Given the description of an element on the screen output the (x, y) to click on. 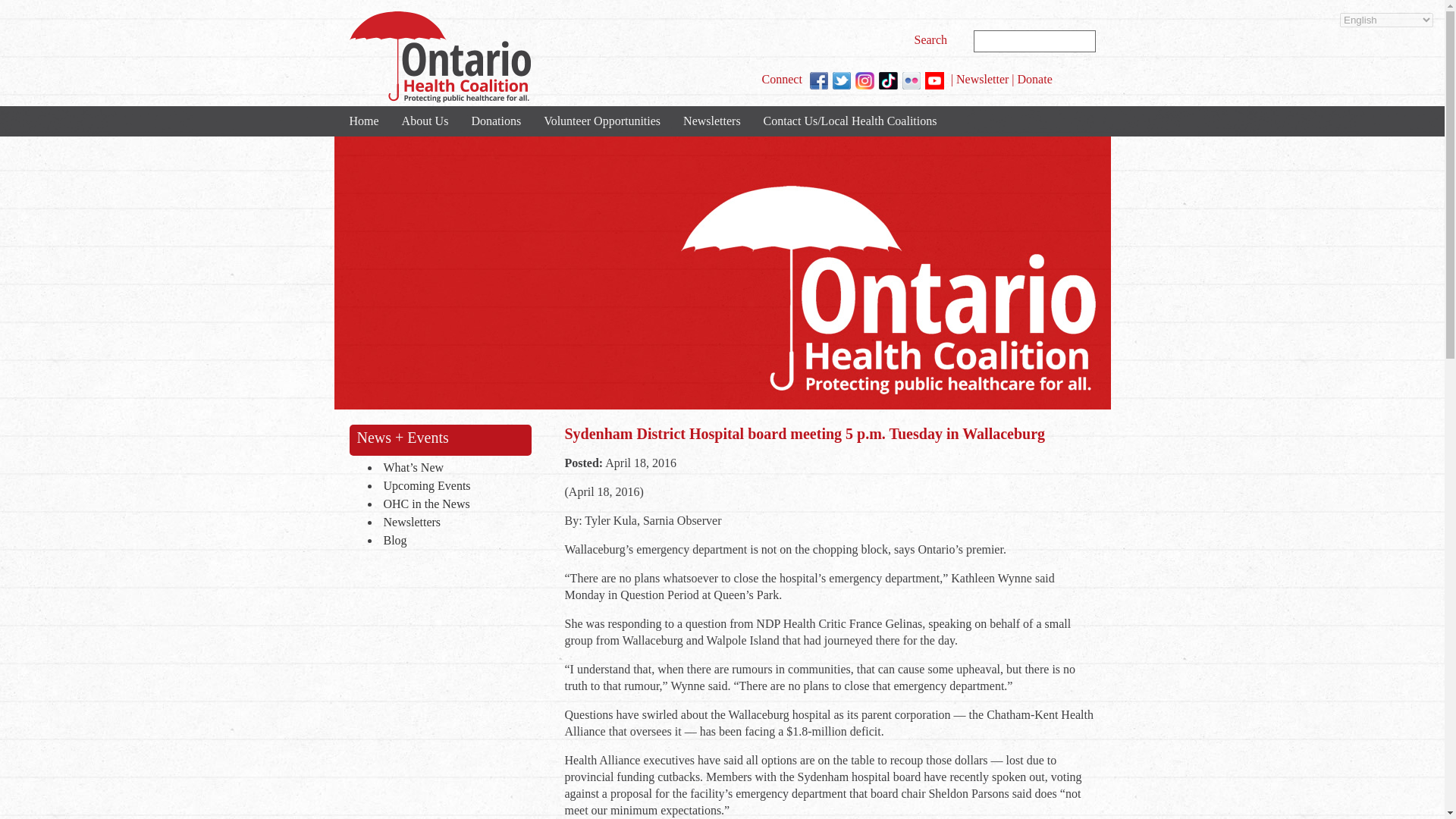
Search (932, 39)
Donations (496, 121)
Newsletter (982, 79)
TikTok (888, 80)
About Us (425, 121)
Newsletters (452, 523)
Volunteer Opportunities (601, 121)
Ontario Health Coalition (439, 56)
Newsletters (711, 121)
Blog (452, 541)
Facebook (818, 80)
YouTube (933, 80)
Instagram (865, 80)
Search (932, 39)
Flickr (911, 80)
